Given the description of an element on the screen output the (x, y) to click on. 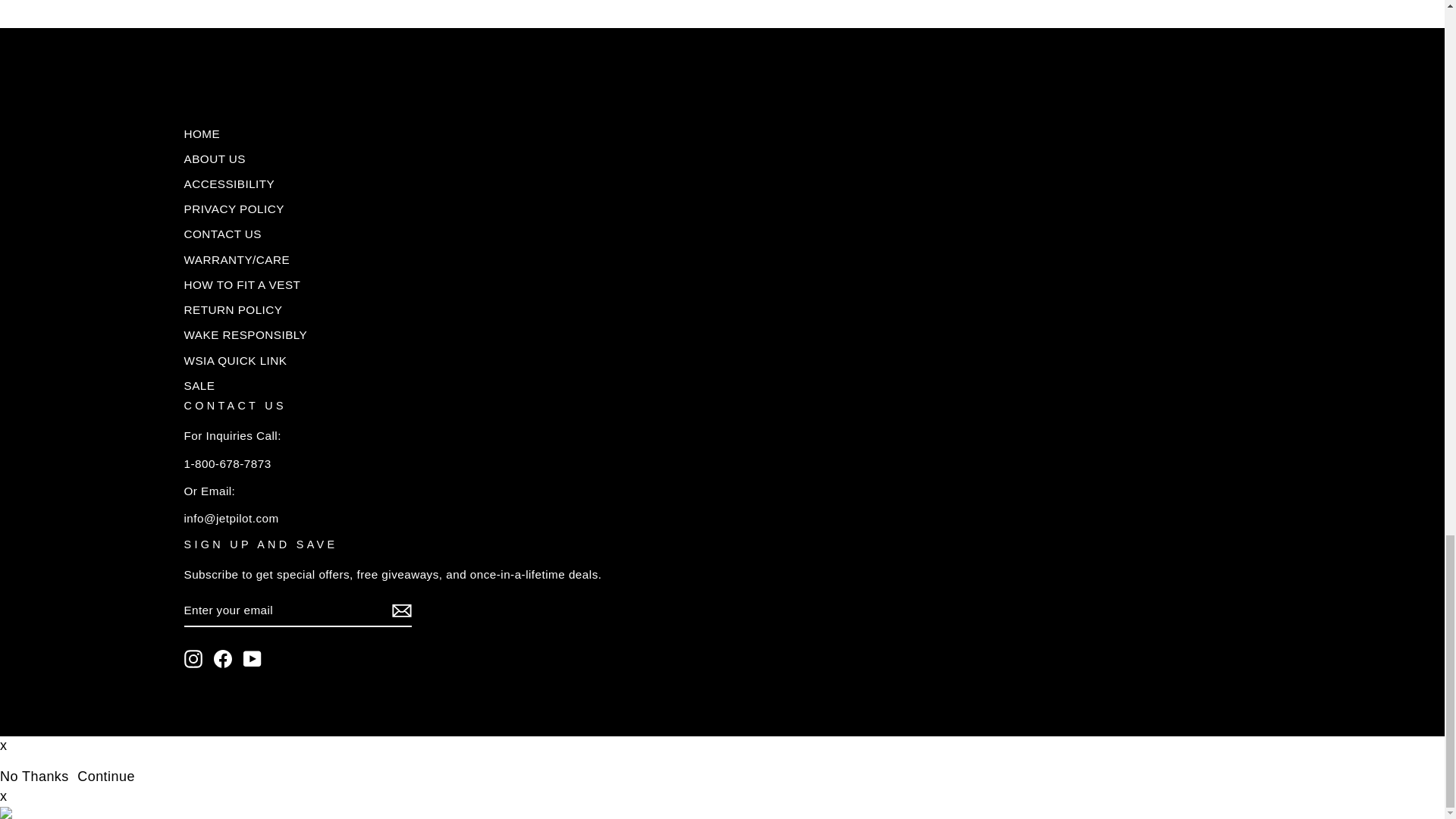
instagram (192, 659)
JETPILOT on Facebook (222, 659)
JETPILOT on YouTube (251, 659)
JETPILOT on Instagram (192, 659)
icon-email (400, 610)
